Given the description of an element on the screen output the (x, y) to click on. 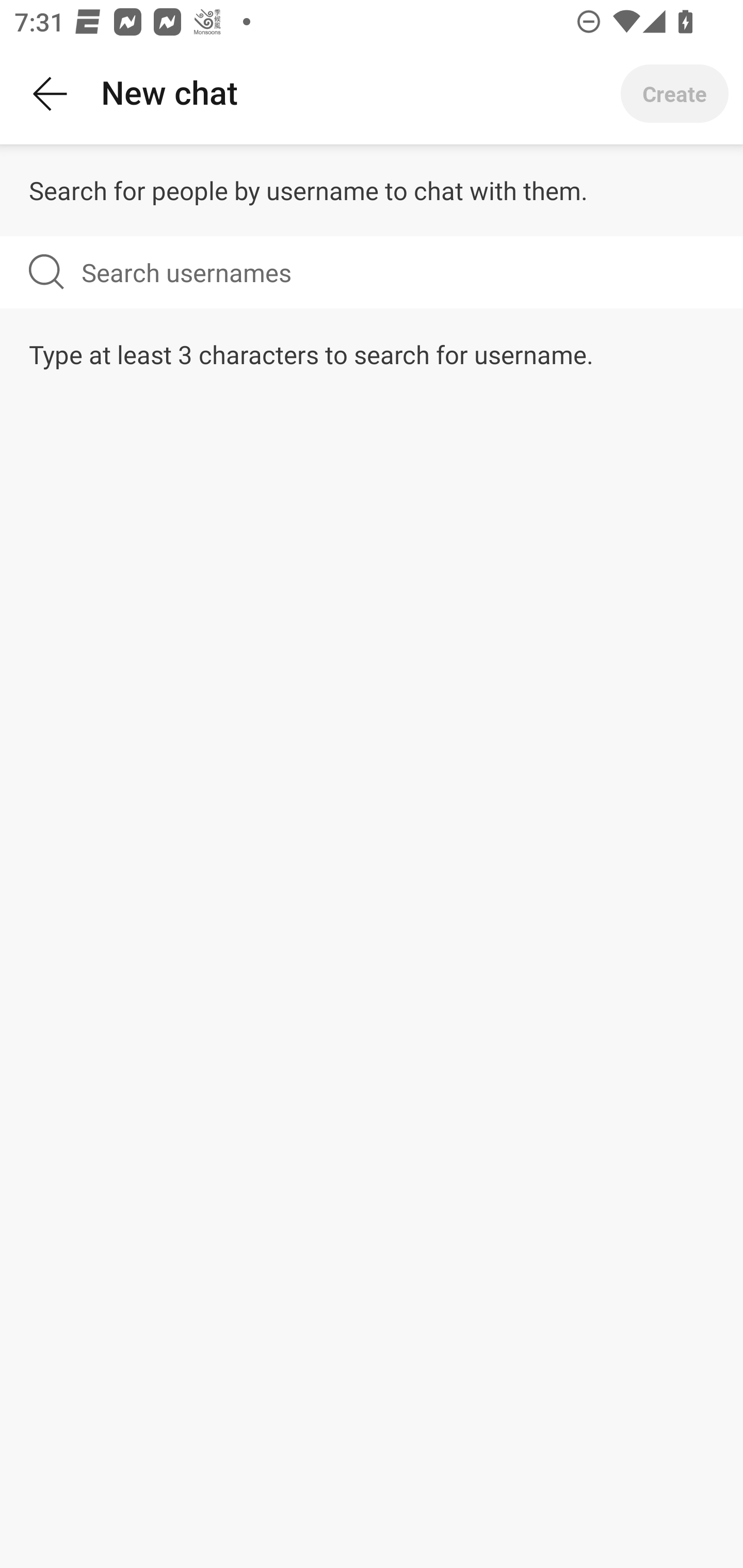
Back (50, 93)
Create (674, 93)
